Given the description of an element on the screen output the (x, y) to click on. 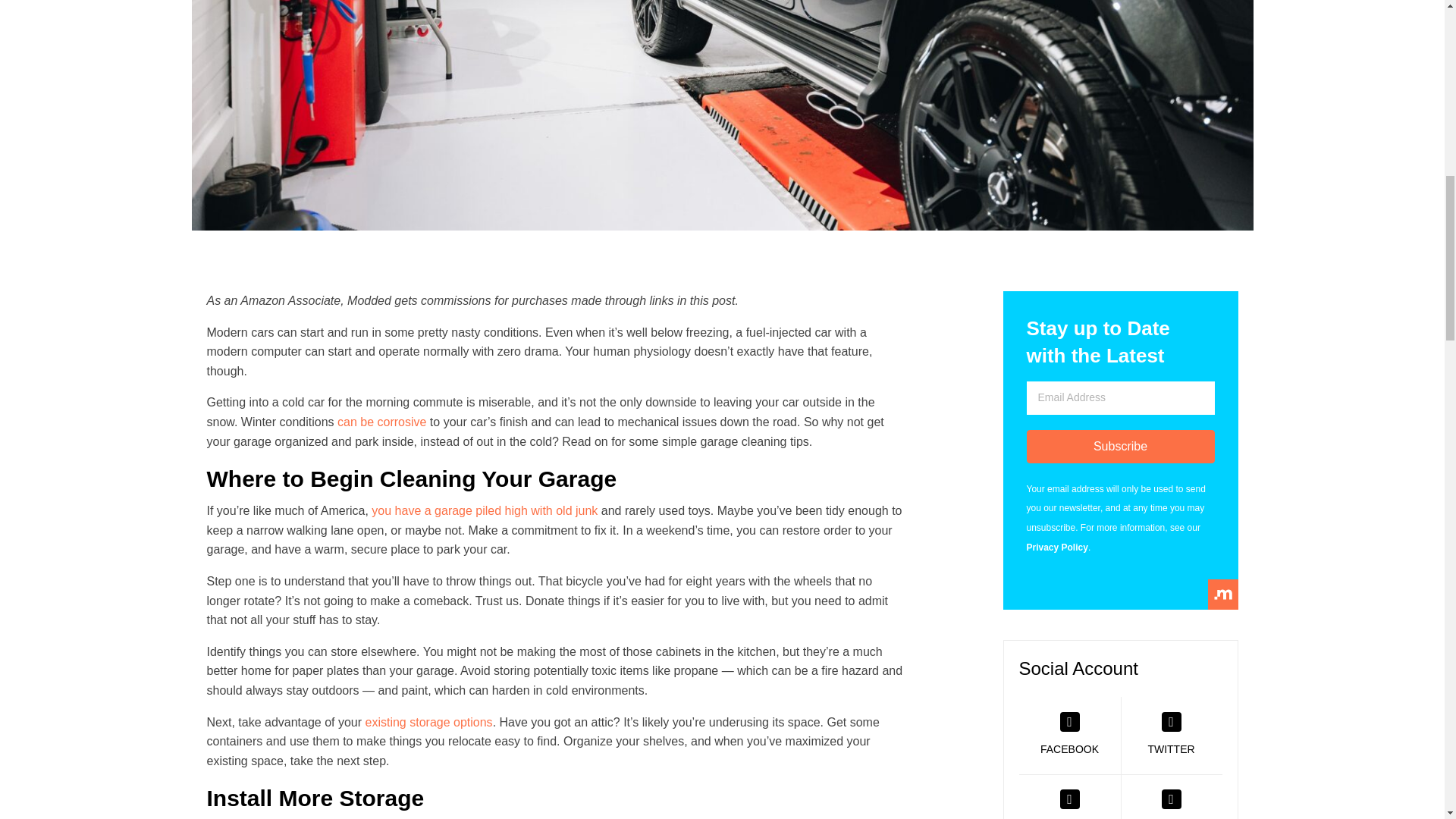
Subscribe (1120, 446)
can be corrosive (381, 421)
existing storage options (429, 721)
Privacy Policy (1056, 547)
you have a garage piled high with old junk (483, 510)
